Given the description of an element on the screen output the (x, y) to click on. 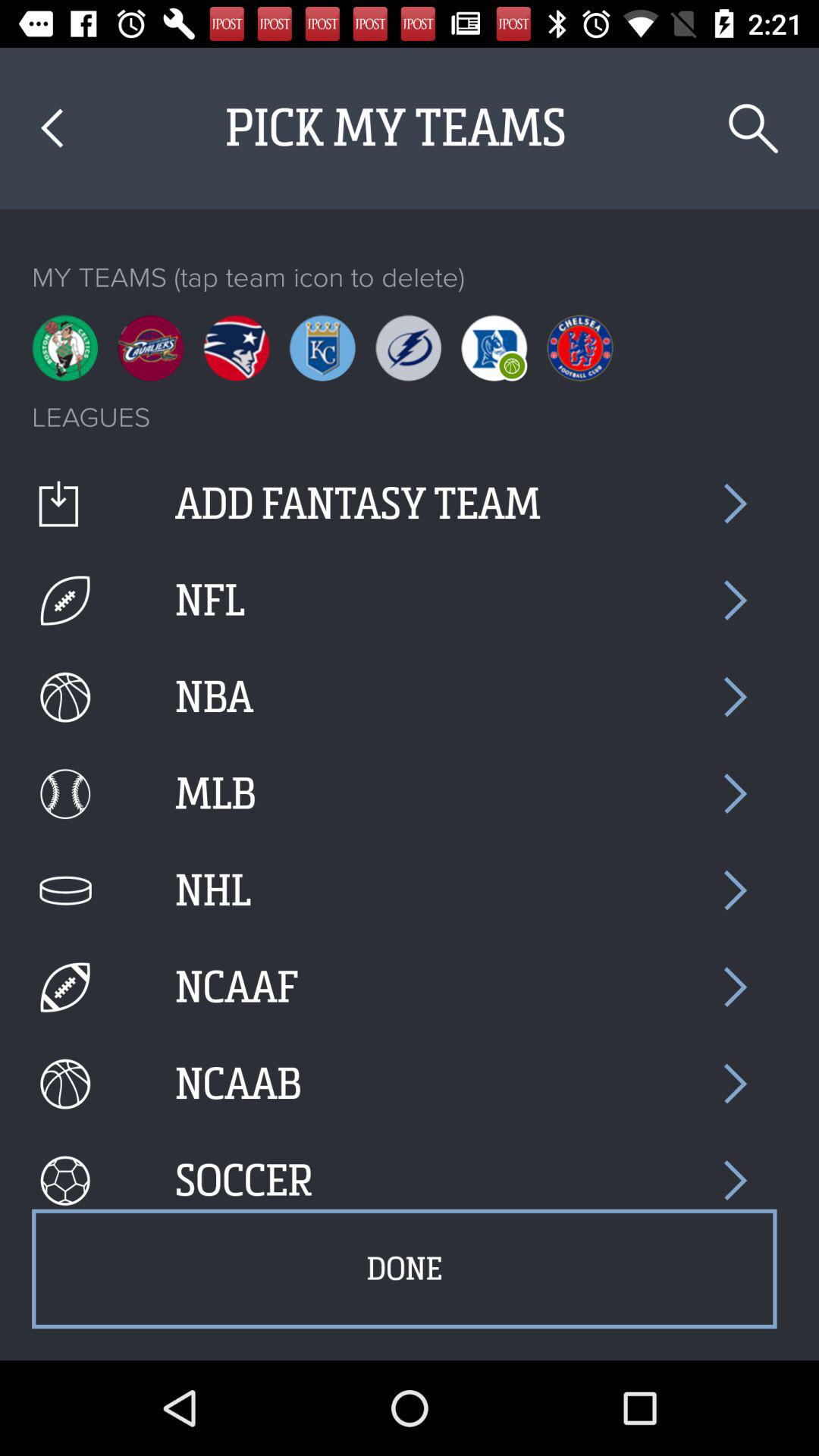
tap the done (403, 1268)
